Given the description of an element on the screen output the (x, y) to click on. 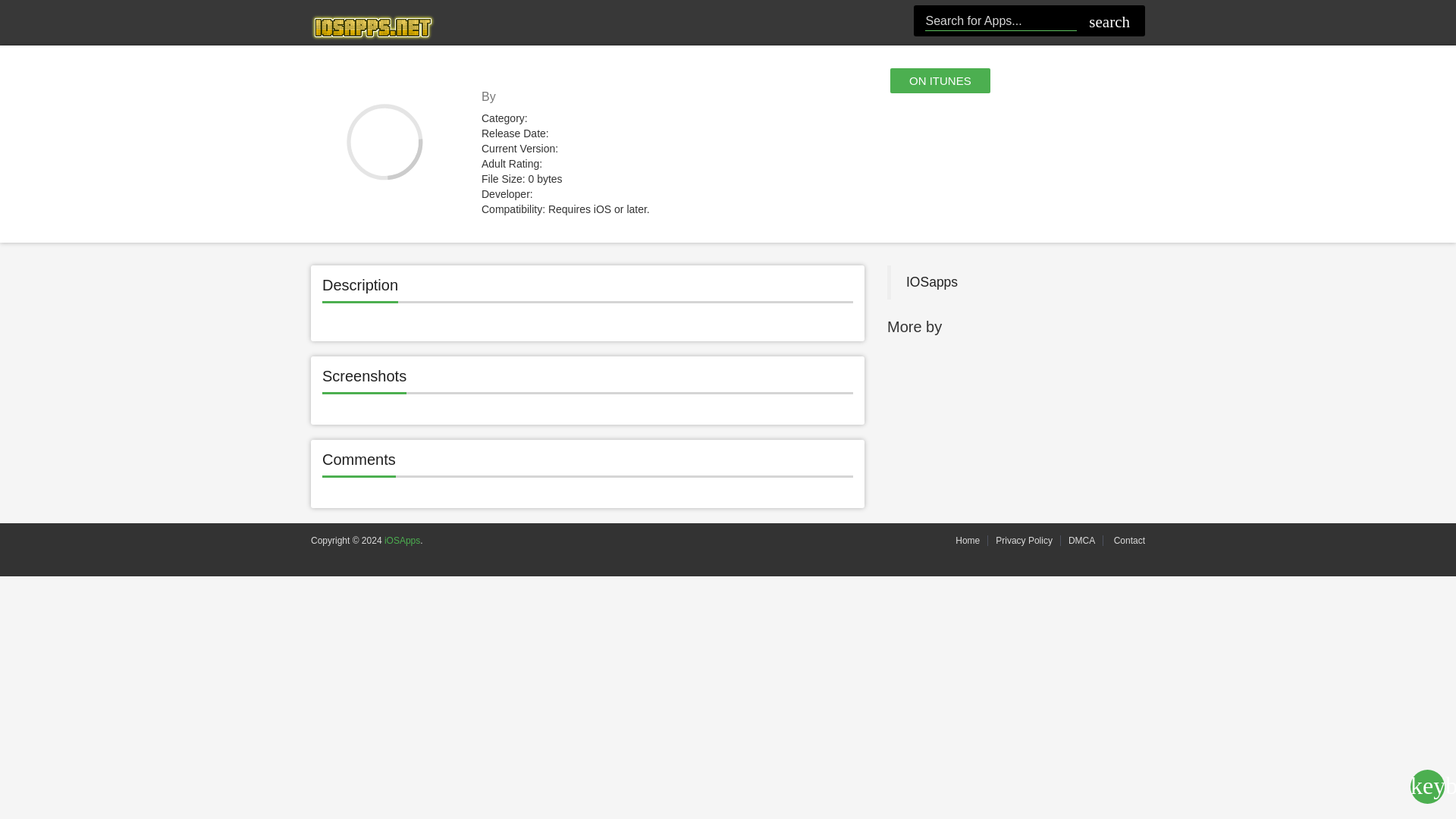
IOSapps (931, 281)
search (1107, 22)
Contact (1127, 540)
Home (967, 540)
DMCA (1081, 540)
Privacy Policy (1023, 540)
ON ITUNES (939, 80)
